Given the description of an element on the screen output the (x, y) to click on. 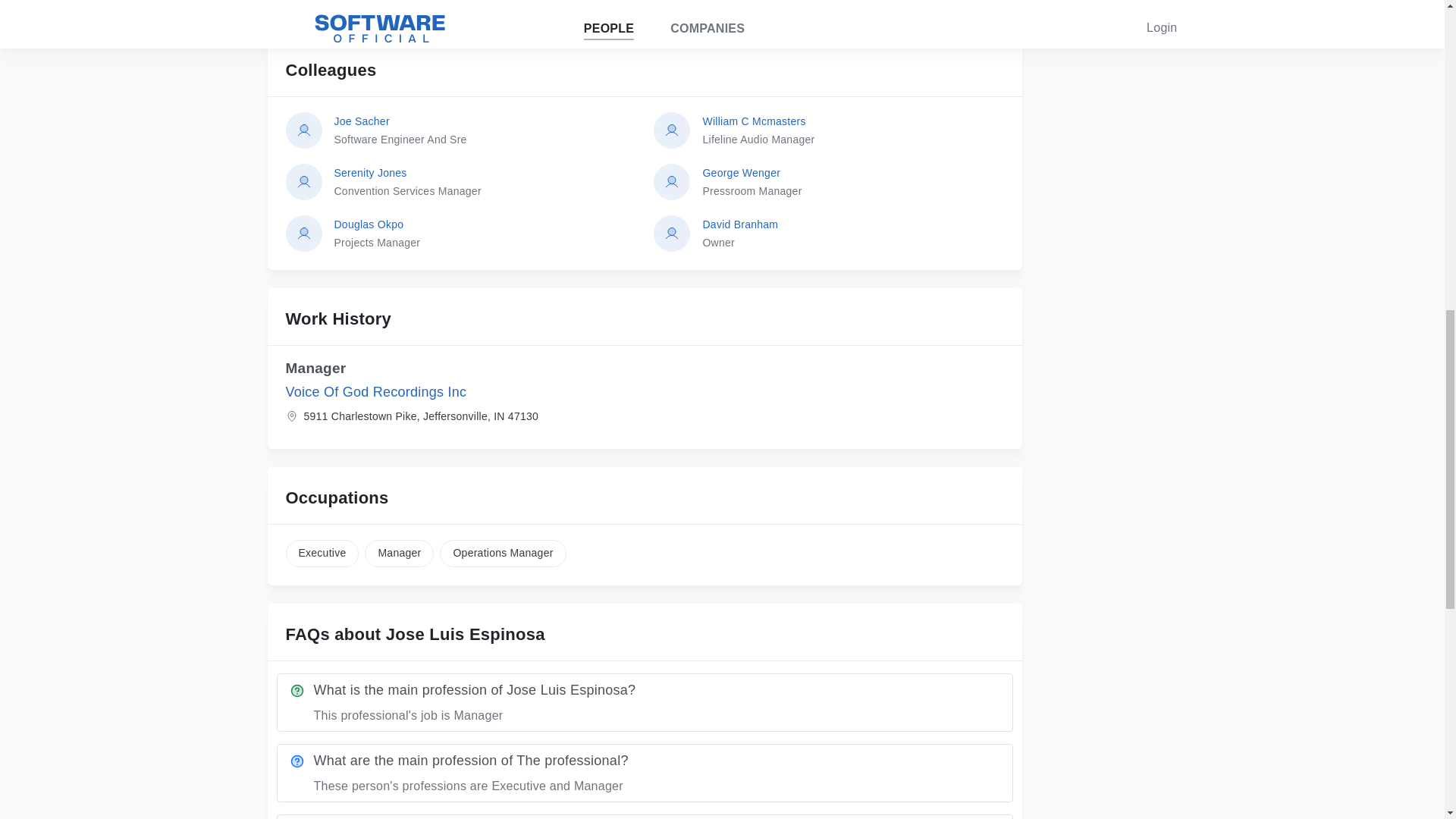
Voice Of God Recordings Inc (852, 181)
